Given the description of an element on the screen output the (x, y) to click on. 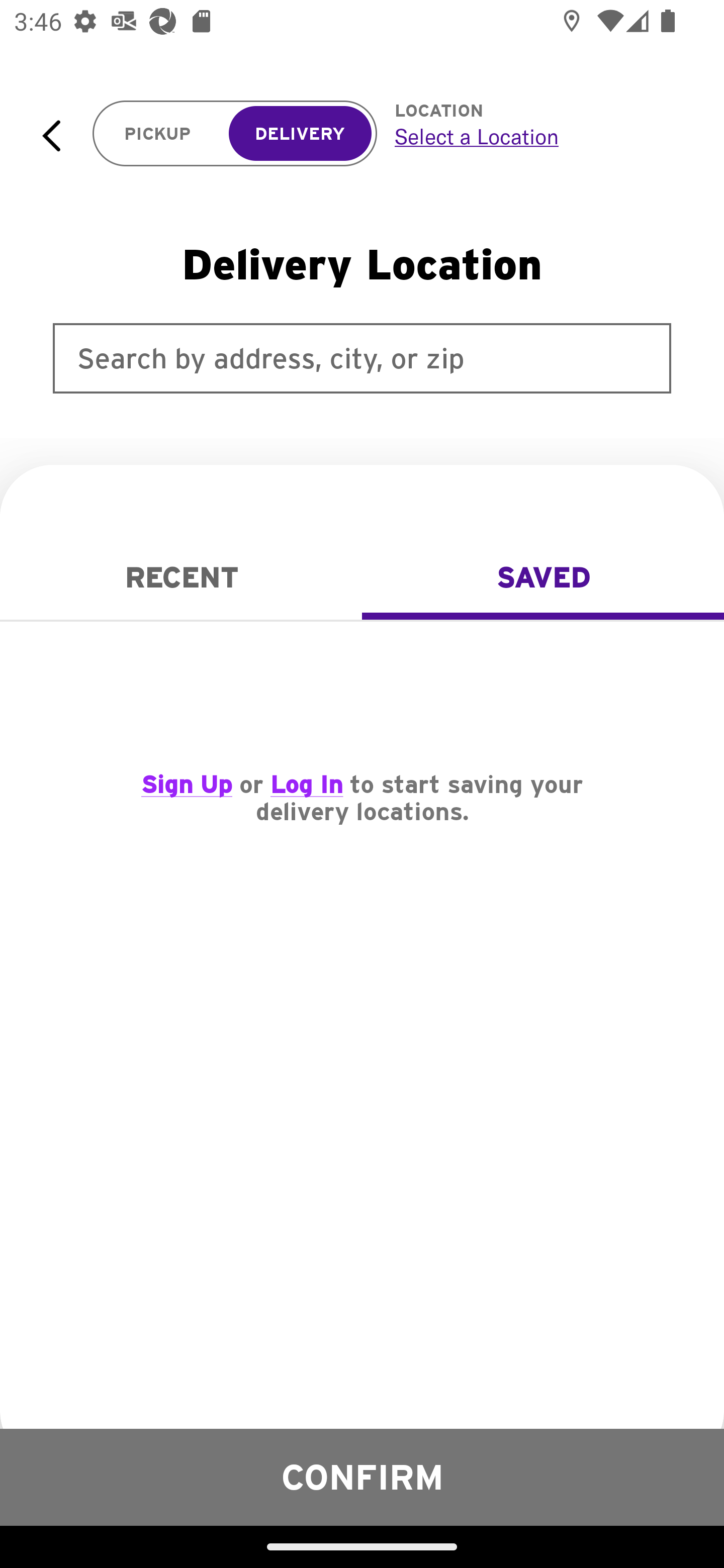
PICKUP (157, 133)
DELIVERY (299, 133)
Select a Location (536, 136)
Search by address, city, or zip (361, 358)
Recent RECENT (181, 576)
CONFIRM (362, 1476)
